Given the description of an element on the screen output the (x, y) to click on. 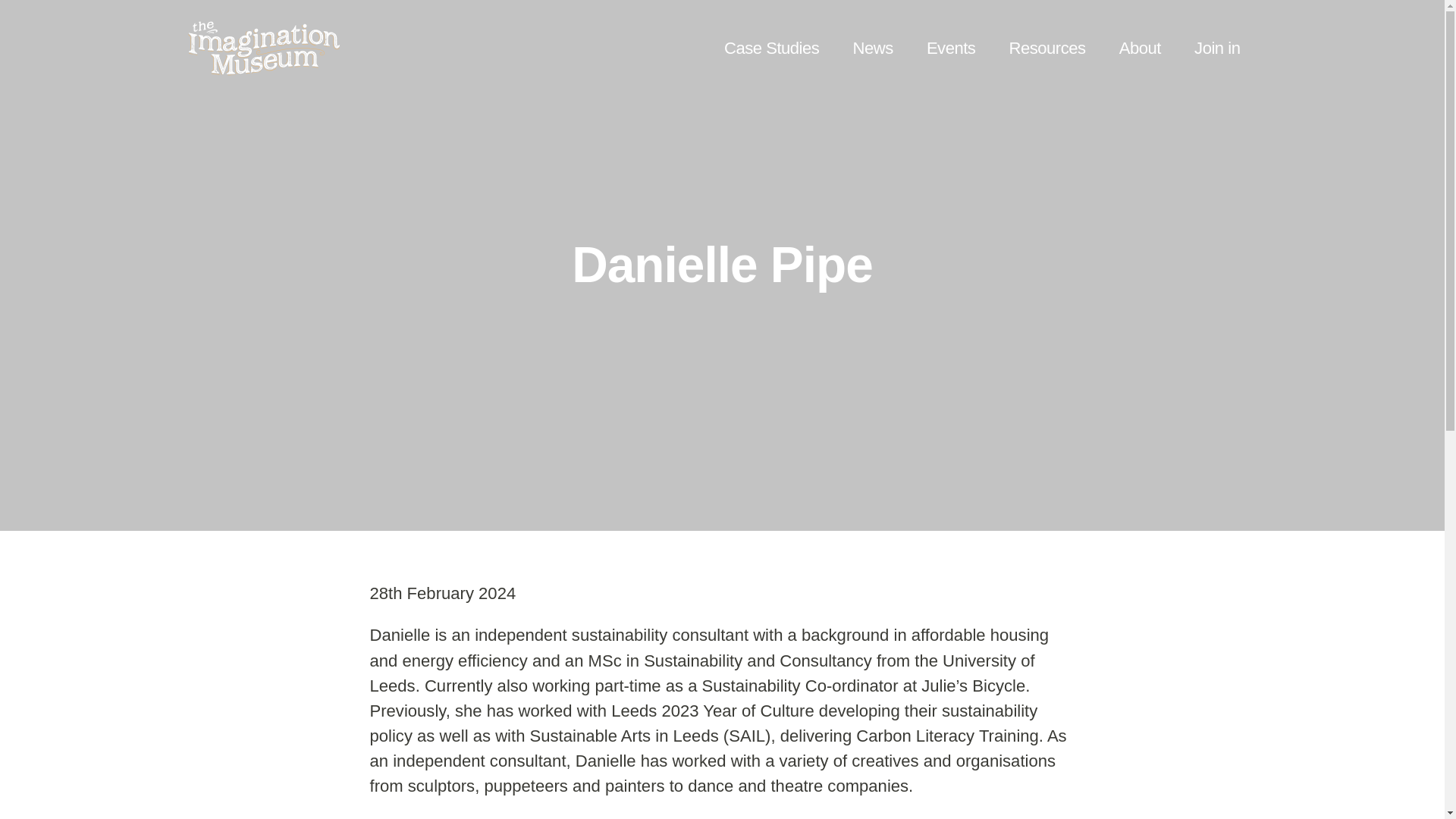
Join in (1216, 47)
Events (950, 47)
News (873, 47)
About (1139, 47)
Resources (1047, 47)
Case Studies (770, 47)
